Given the description of an element on the screen output the (x, y) to click on. 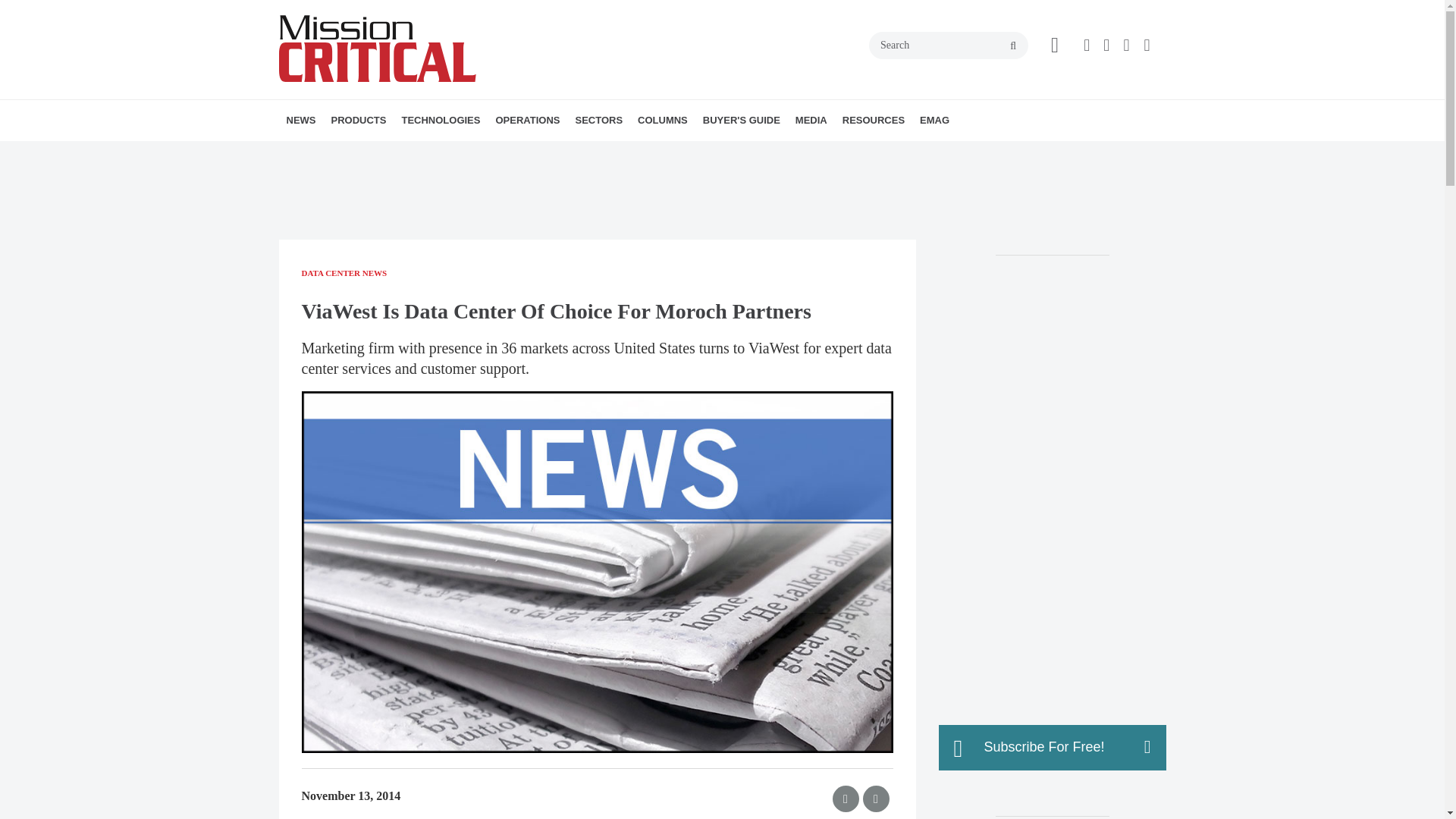
SECTORS (598, 119)
PRODUCTS (358, 119)
NEW PRODUCTS (417, 153)
Search (948, 44)
search (1013, 46)
BFSI (662, 153)
CABLING (525, 153)
NEWS (301, 119)
5G (496, 153)
POWER (512, 153)
TECHNOLOGIES (440, 119)
EDGE COMPUTING (519, 153)
CLOUD COMPUTING (516, 153)
INDUSTRY NEWS (373, 153)
COOLING (522, 153)
